Given the description of an element on the screen output the (x, y) to click on. 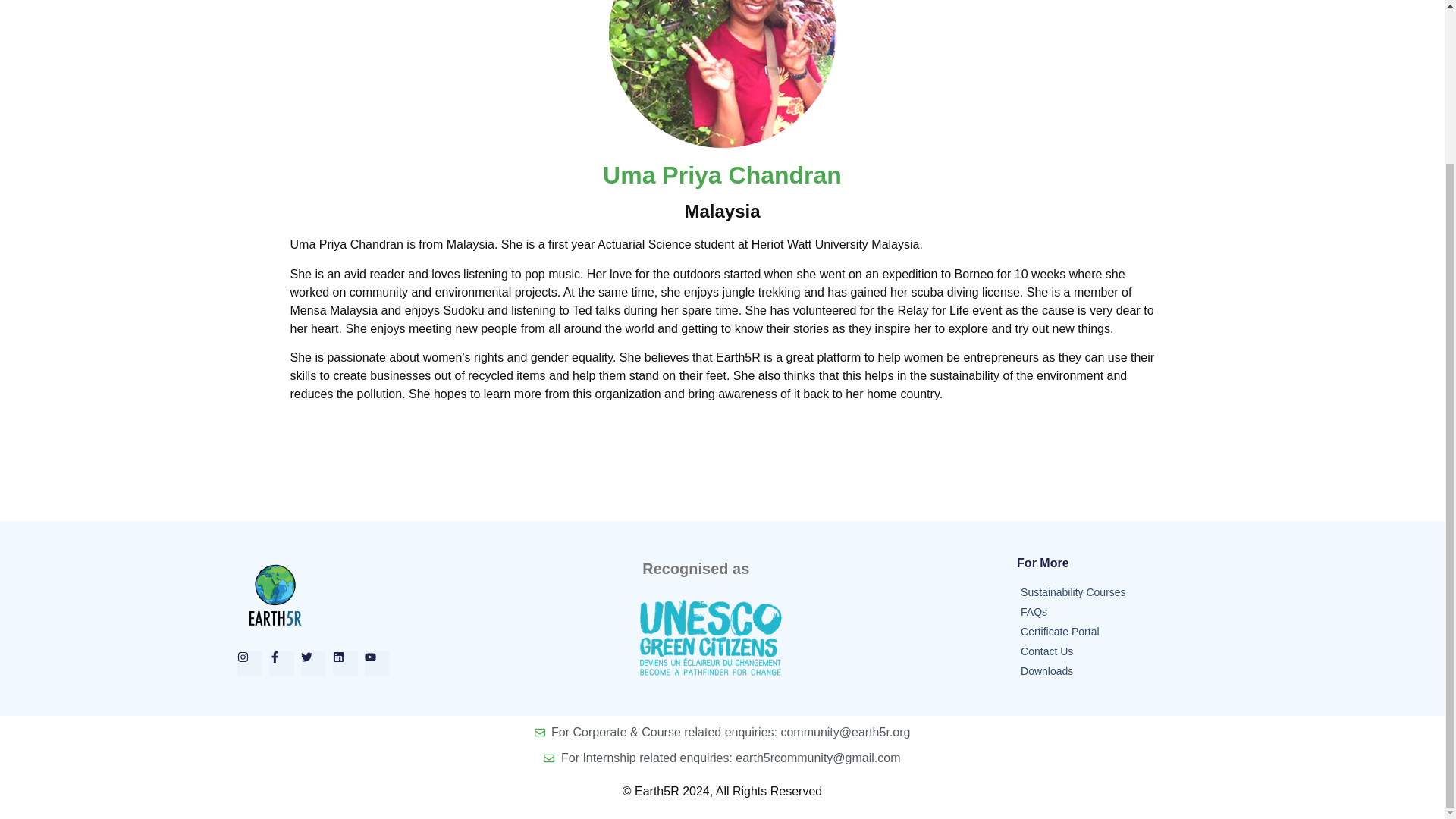
Earth5R Sustainability Logo (274, 595)
